Given the description of an element on the screen output the (x, y) to click on. 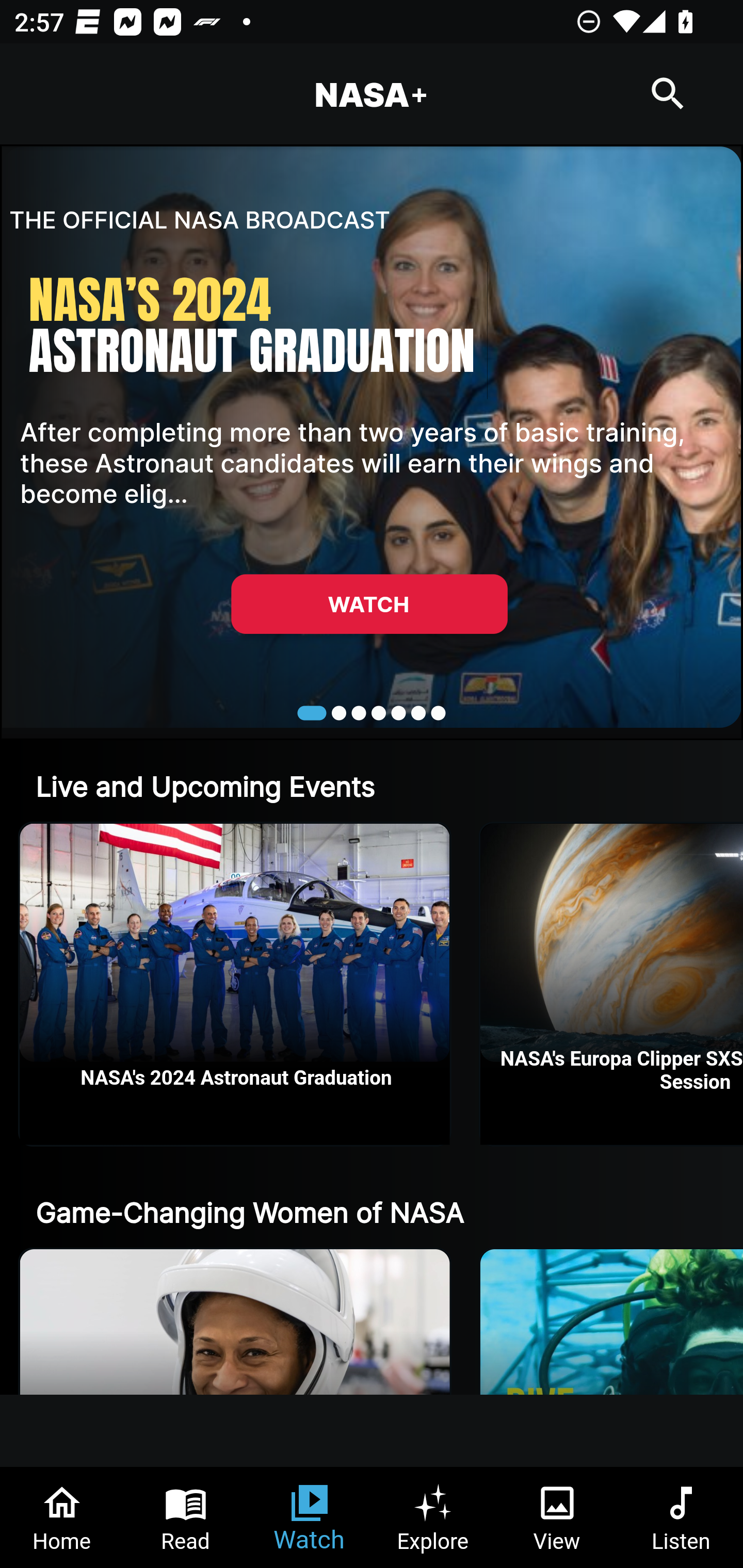
WATCH (369, 603)
NASA's 2024 Astronaut Graduation (235, 983)
NASA's Europa Clipper SXSW 2024 Opening Session (611, 983)
Home
Tab 1 of 6 (62, 1517)
Read
Tab 2 of 6 (185, 1517)
Watch
Tab 3 of 6 (309, 1517)
Explore
Tab 4 of 6 (433, 1517)
View
Tab 5 of 6 (556, 1517)
Listen
Tab 6 of 6 (680, 1517)
